Given the description of an element on the screen output the (x, y) to click on. 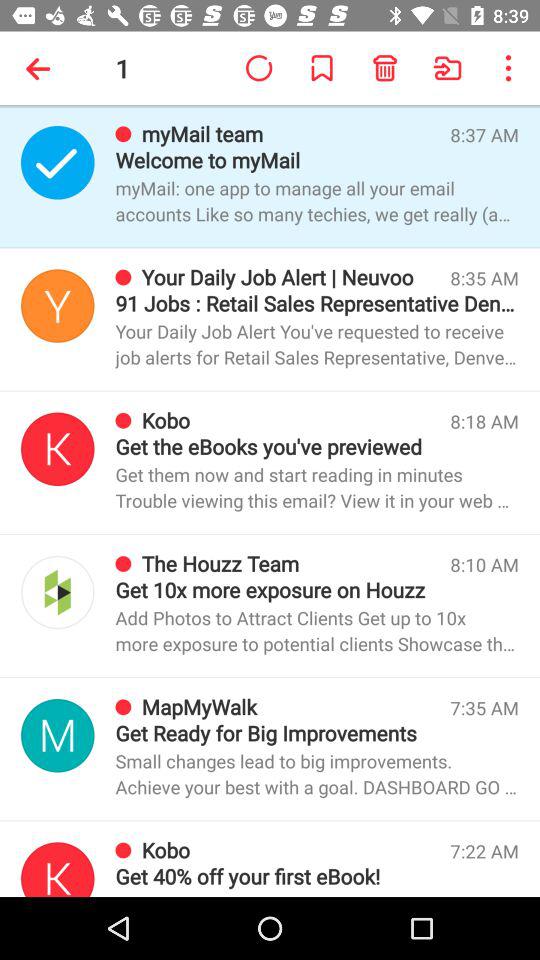
select the mail (57, 305)
